Given the description of an element on the screen output the (x, y) to click on. 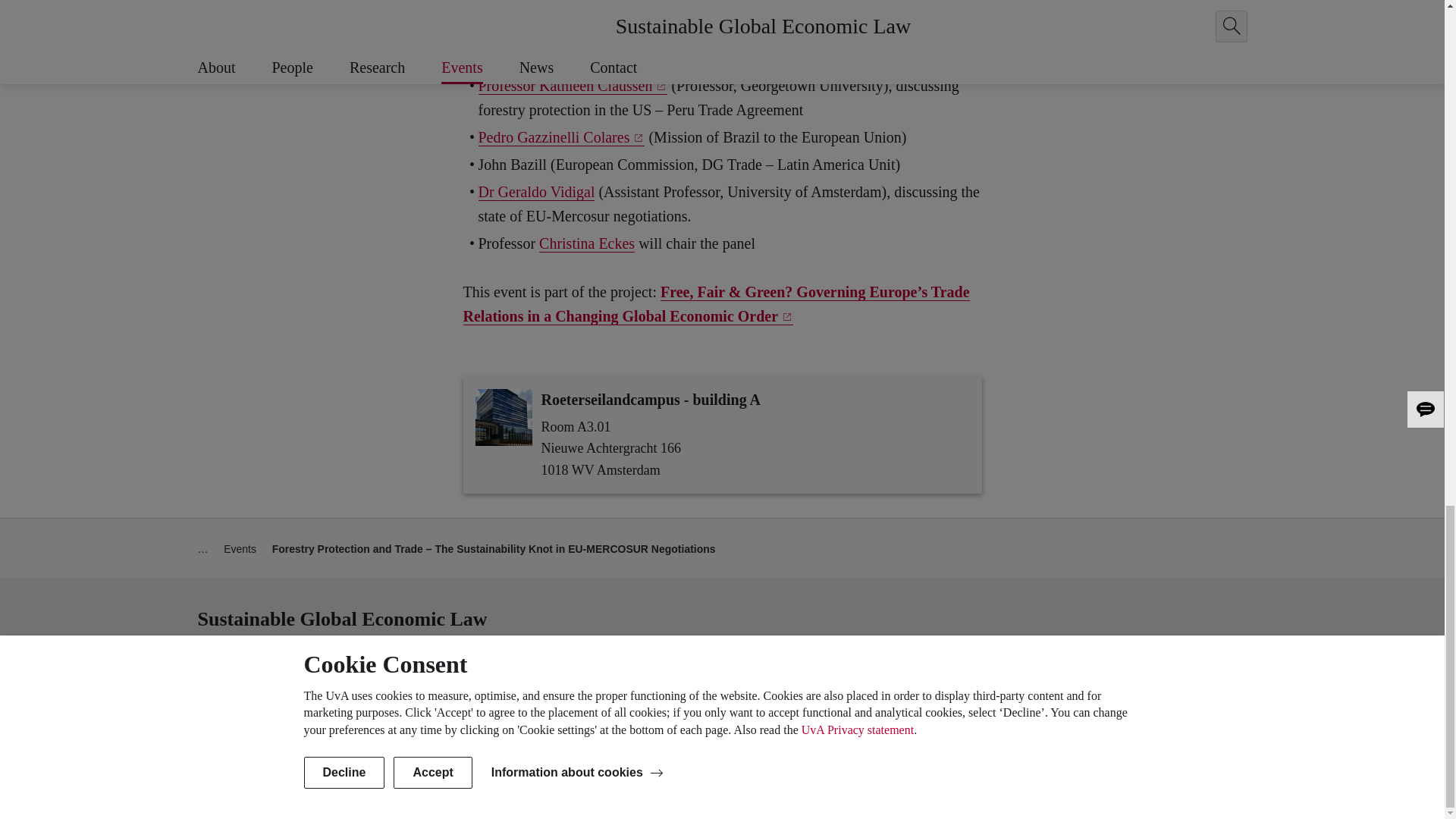
About this site (1076, 730)
Privacy (1139, 730)
Christina Eckes (586, 243)
Renato Rosenberg (540, 34)
About this site (1076, 730)
Events (240, 549)
Cookie settings (1206, 730)
Dr Geraldo Vidigal (535, 191)
Privacy (1139, 730)
Professor Kathleen Claussen (571, 85)
